Given the description of an element on the screen output the (x, y) to click on. 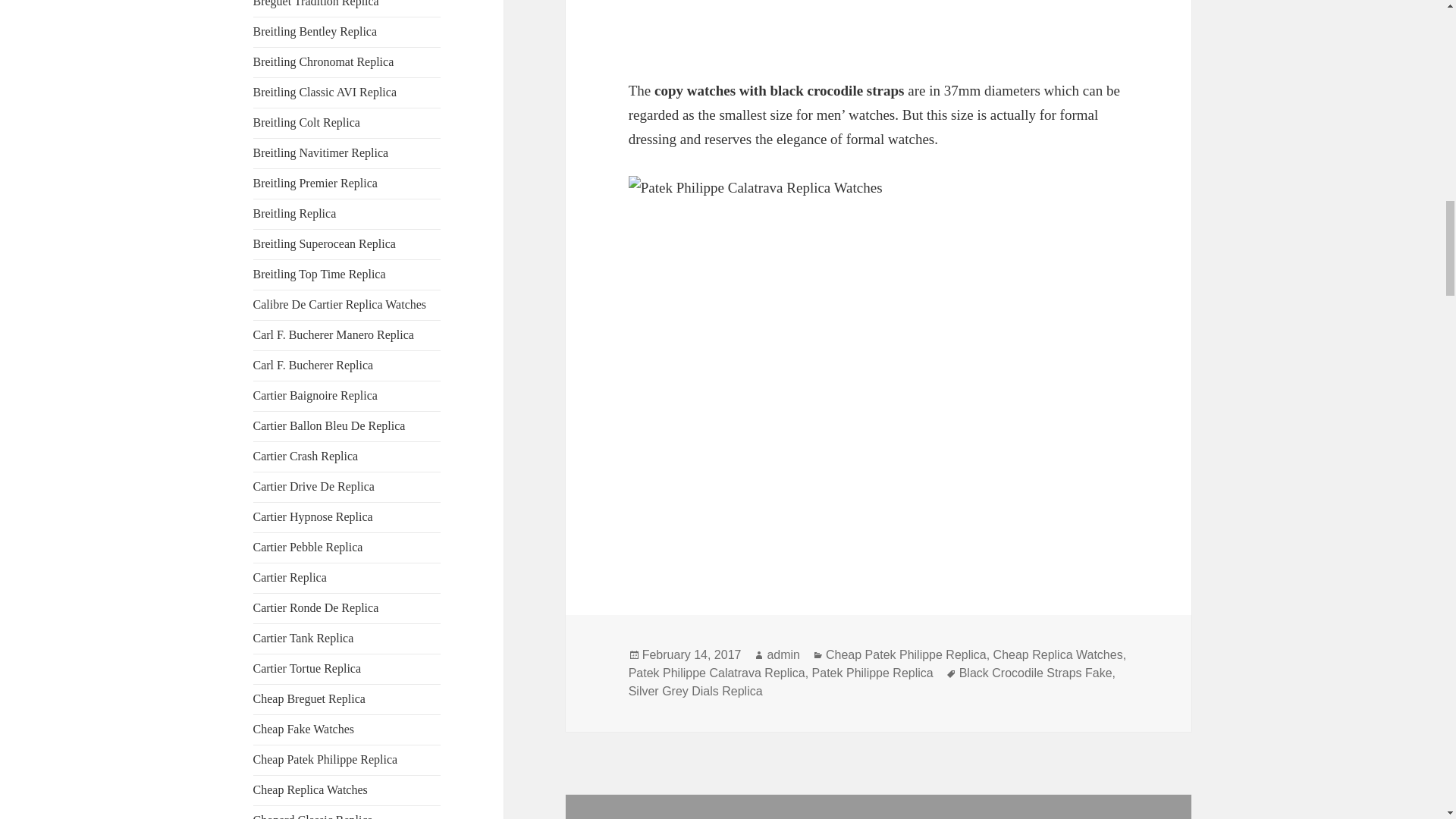
Breitling Bentley Replica (315, 31)
Breitling Classic AVI Replica (324, 91)
Breitling Colt Replica (306, 122)
Breguet Tradition Replica (315, 3)
Breitling Chronomat Replica (323, 61)
